Given the description of an element on the screen output the (x, y) to click on. 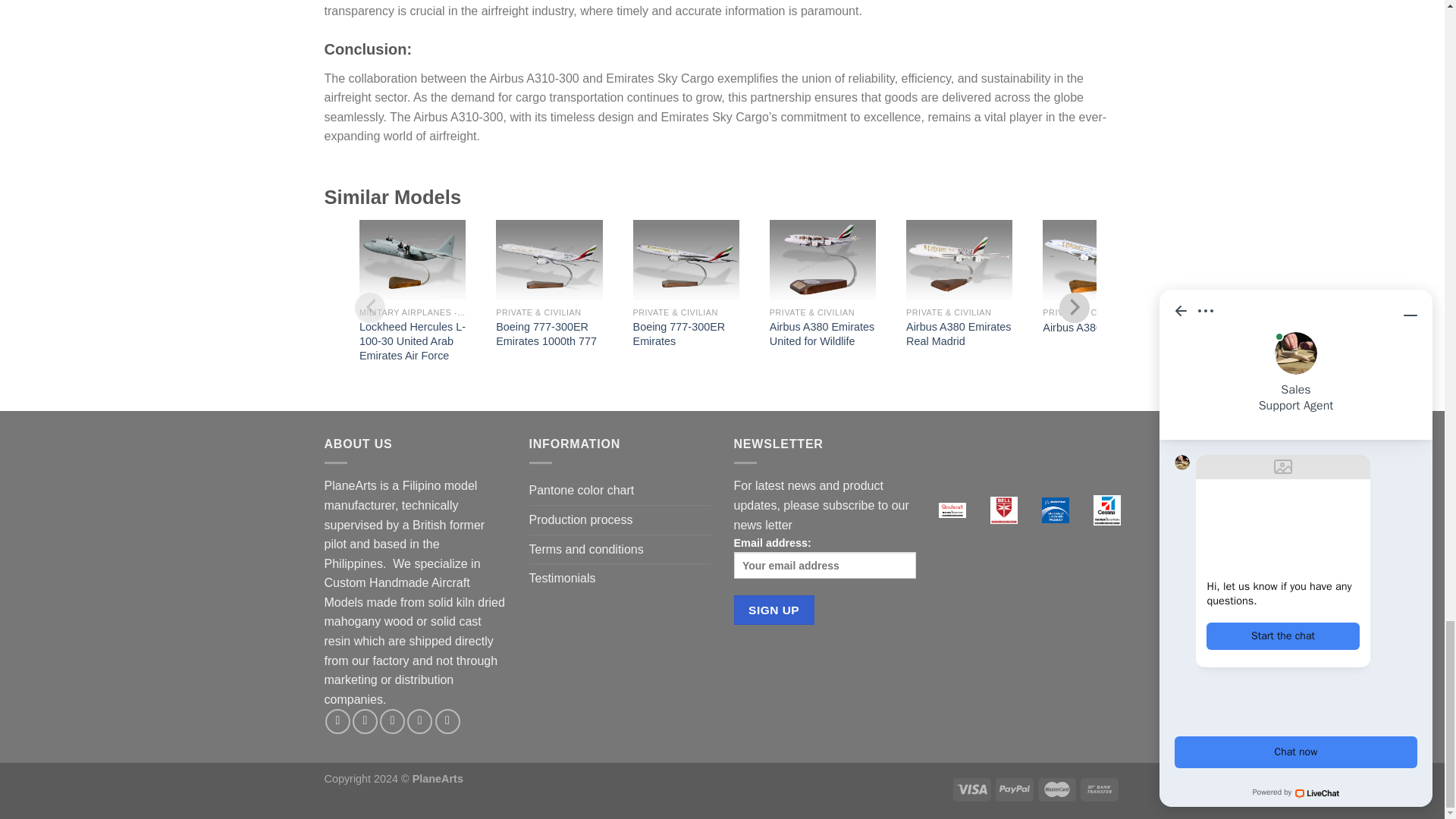
Sign up (773, 609)
